Given the description of an element on the screen output the (x, y) to click on. 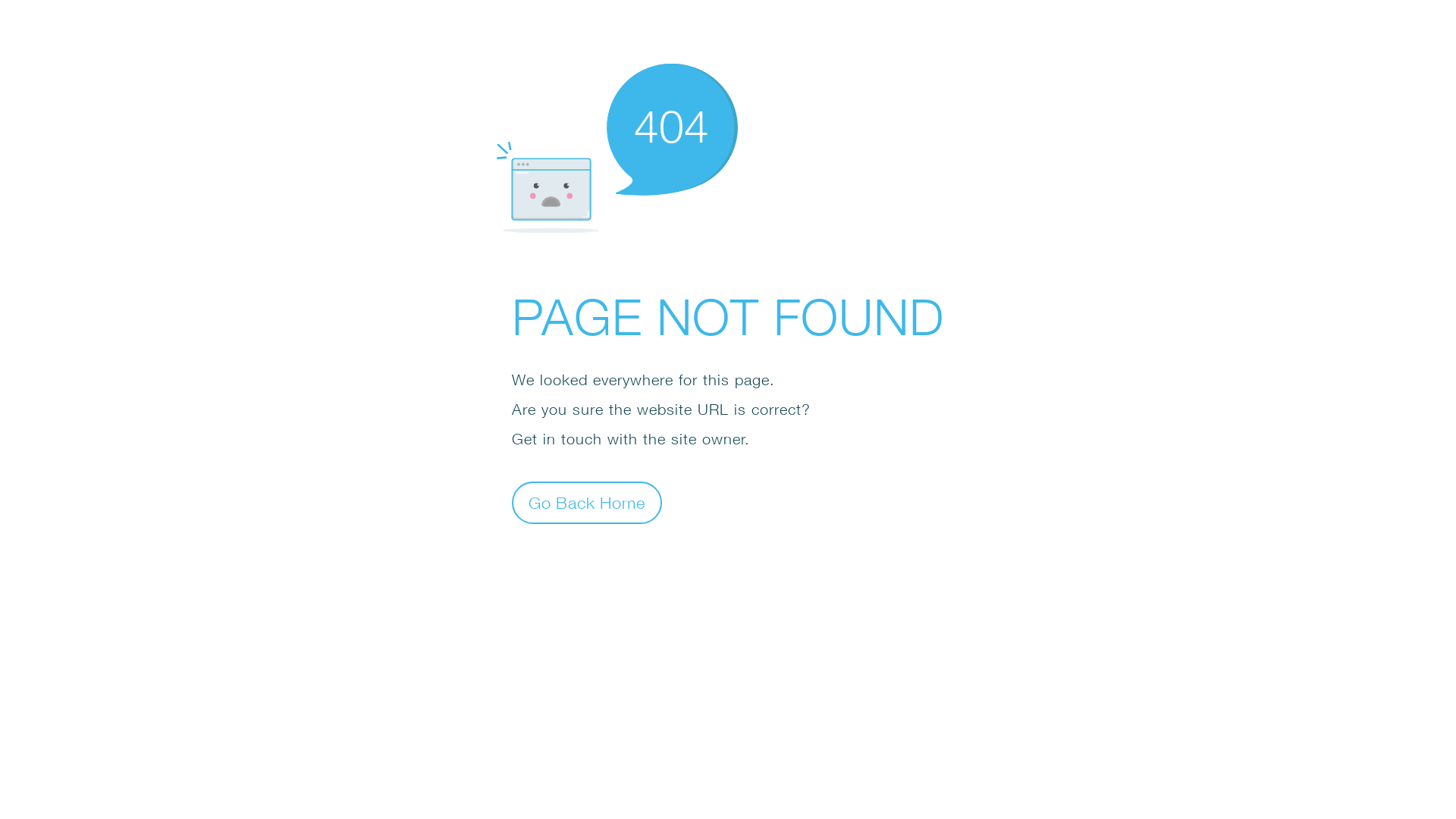
Go Back Home Element type: text (586, 502)
